Given the description of an element on the screen output the (x, y) to click on. 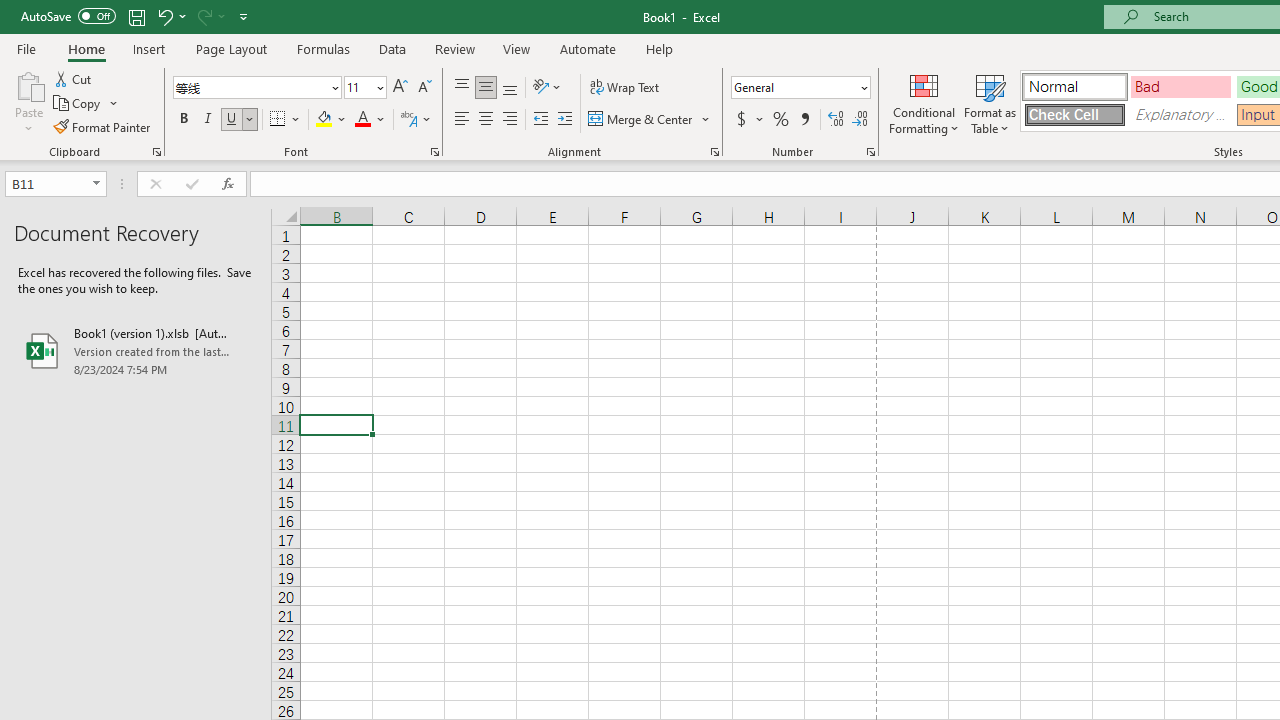
Accounting Number Format (741, 119)
Format Cell Alignment (714, 151)
Copy (85, 103)
Decrease Font Size (424, 87)
Merge & Center (641, 119)
Show Phonetic Field (416, 119)
Conditional Formatting (924, 102)
Font Color (370, 119)
Fill Color RGB(255, 255, 0) (324, 119)
Accounting Number Format (749, 119)
Check Cell (1074, 114)
Font (256, 87)
